Given the description of an element on the screen output the (x, y) to click on. 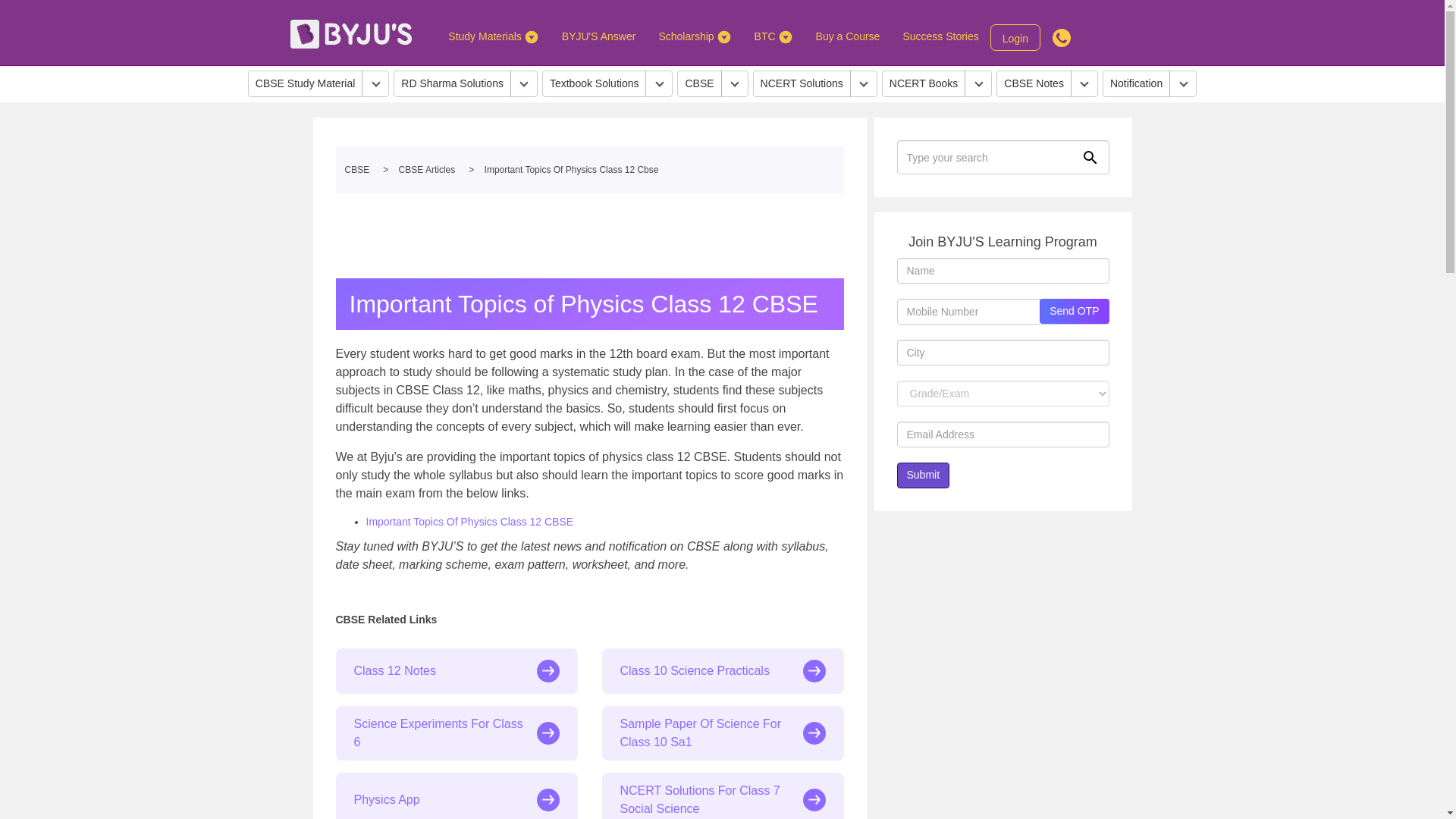
Physics App (455, 796)
Sample Paper Of Science For Class 10 Sa1 (723, 732)
NCERT Solutions For Class 7 Social Science (723, 796)
CBSECBSE ArticlesImportant Topics Of Physics Class 12 Cbse (588, 169)
Class 12 Notes (455, 670)
Science Experiments For Class 6 (455, 732)
Class 10 Science Practicals (723, 670)
Study Materials (493, 35)
